Given the description of an element on the screen output the (x, y) to click on. 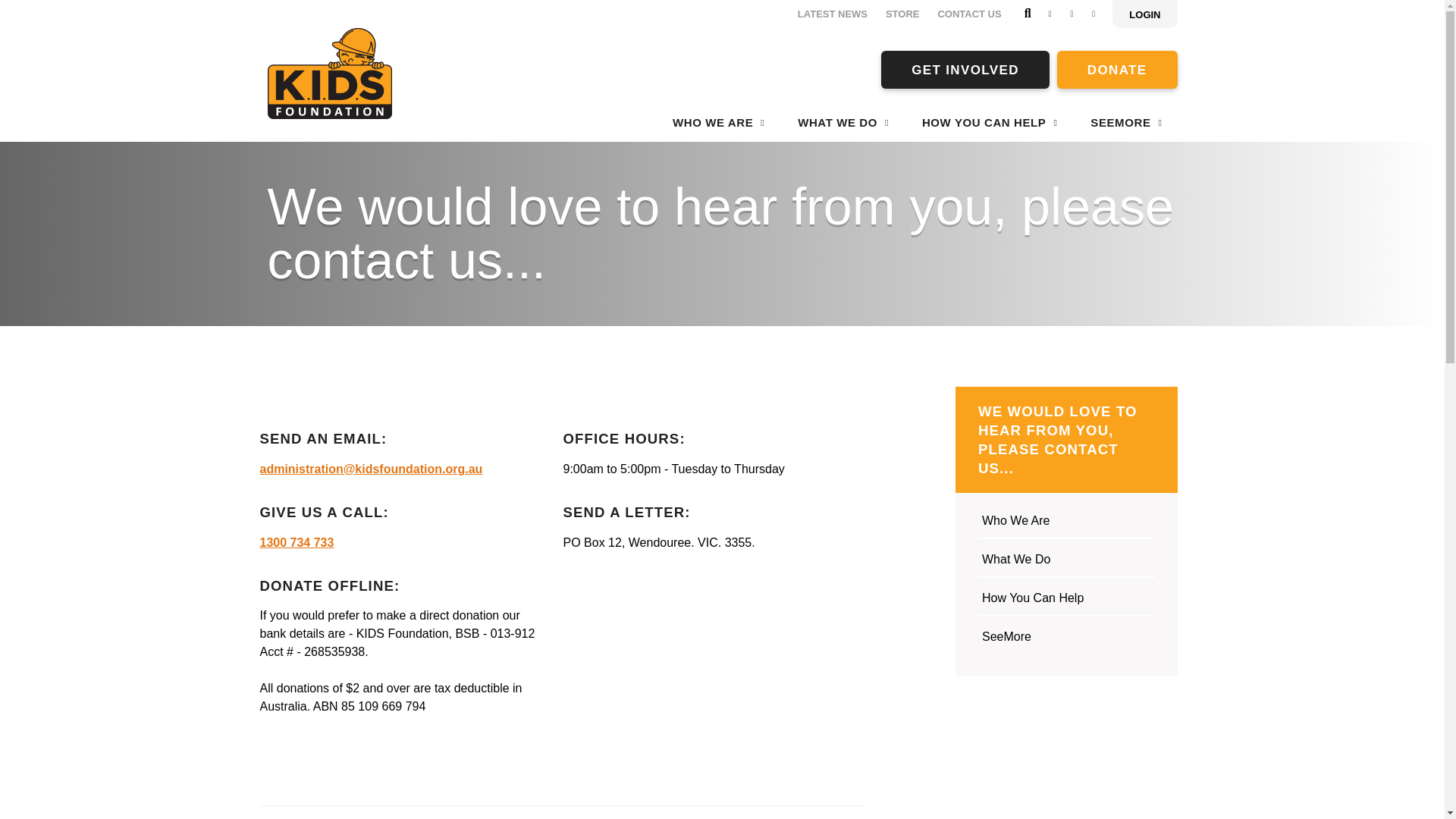
What We Do Element type: text (1066, 561)
DONATE Element type: text (1117, 68)
HOW YOU CAN HELP Element type: text (989, 122)
SEEMORE Element type: text (1125, 122)
LOGIN Element type: text (1144, 14)
WHAT WE DO Element type: text (842, 122)
administration@kidsfoundation.org.au Element type: text (370, 468)
1300 734 733 Element type: text (296, 542)
LATEST NEWS Element type: text (832, 14)
GET INVOLVED Element type: text (965, 68)
SeeMore Element type: text (1066, 638)
WHO WE ARE Element type: text (718, 122)
How You Can Help Element type: text (1066, 600)
WE WOULD LOVE TO HEAR FROM YOU, PLEASE CONTACT US... Element type: text (1066, 439)
Who We Are Element type: text (1066, 523)
CONTACT US Element type: text (969, 14)
STORE Element type: text (902, 14)
